Given the description of an element on the screen output the (x, y) to click on. 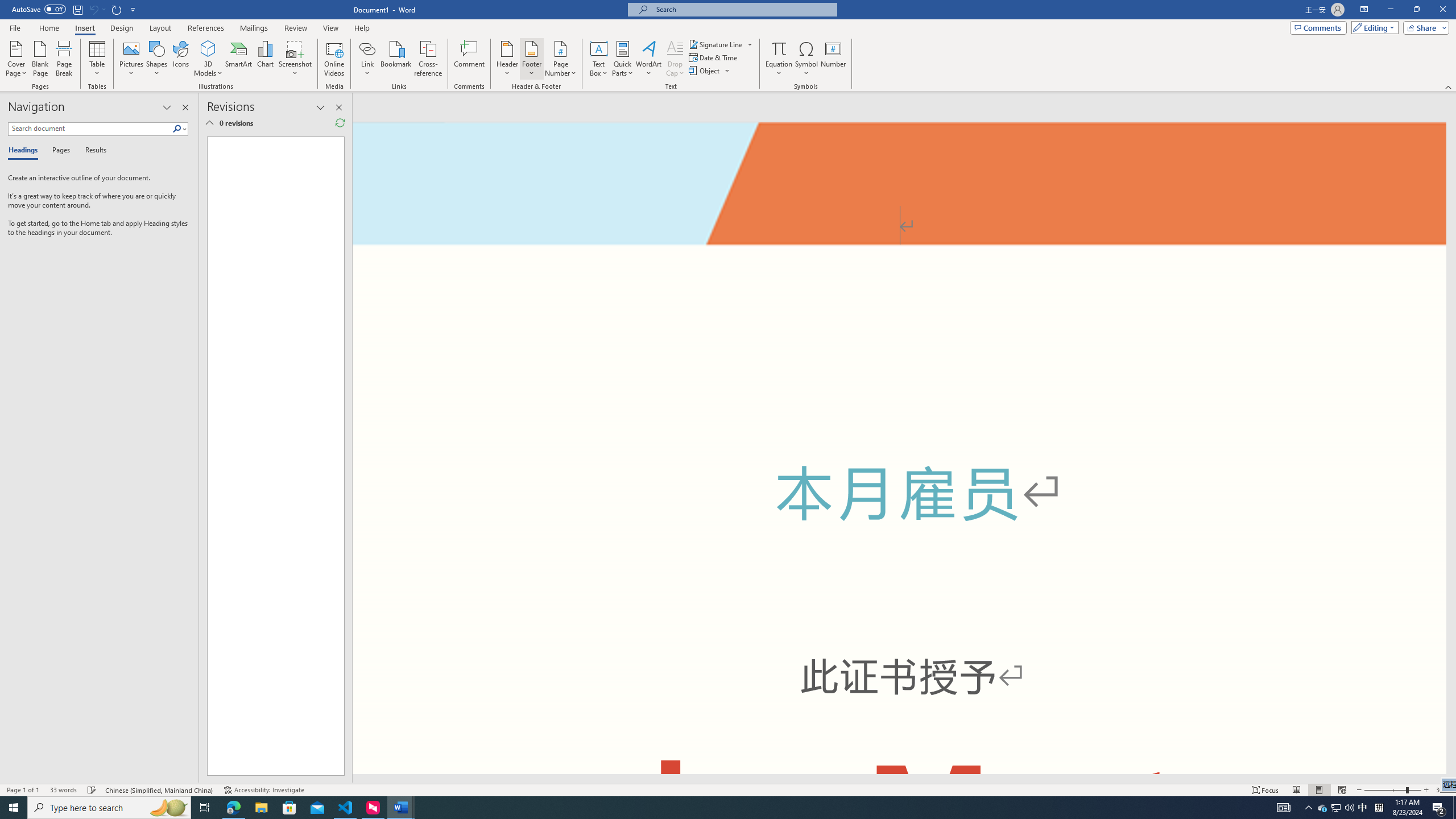
Can't Undo (92, 9)
WordArt (648, 58)
SmartArt... (238, 58)
Blank Page (40, 58)
Table (97, 58)
Refresh Reviewing Pane (339, 122)
Screenshot (295, 58)
